Given the description of an element on the screen output the (x, y) to click on. 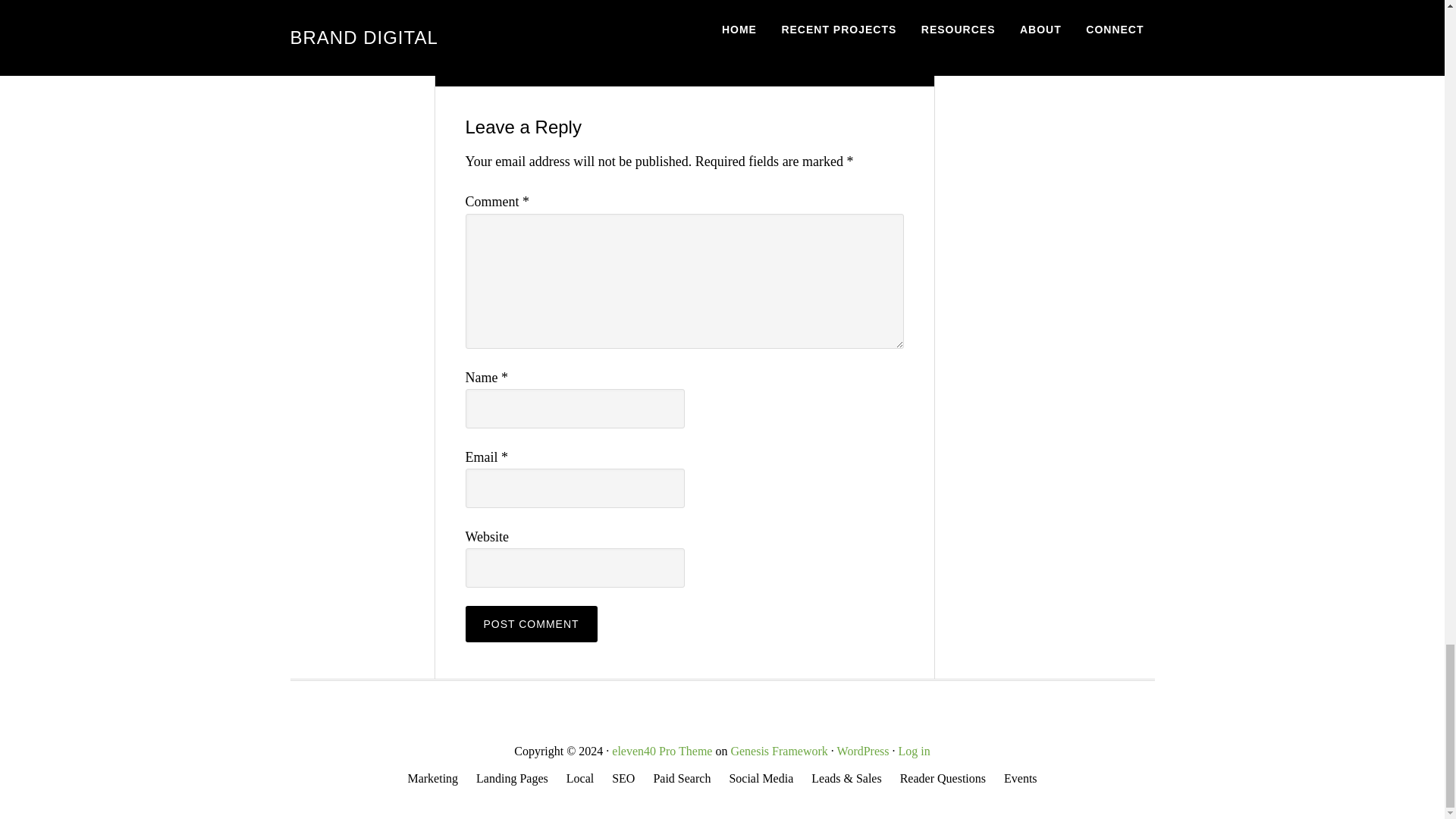
Post Comment (530, 624)
Post Comment (530, 624)
Marketing (432, 778)
WordPress (863, 750)
eleven40 Pro Theme (661, 750)
Log in (914, 750)
Genesis Framework (778, 750)
